Given the description of an element on the screen output the (x, y) to click on. 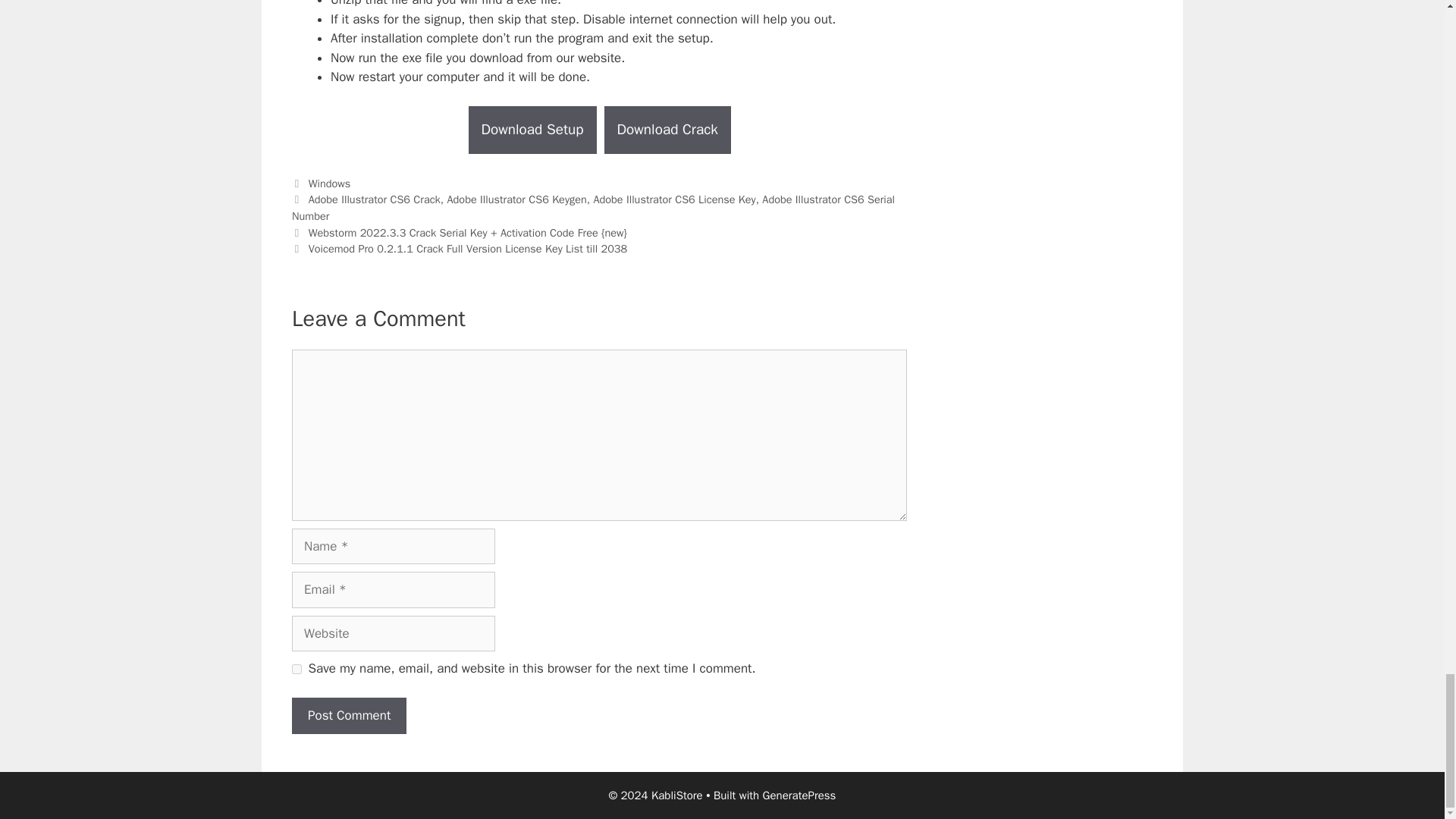
Adobe Illustrator CS6 Serial Number (593, 207)
Adobe Illustrator CS6 Crack (374, 199)
Download SetupDownload Crack (599, 130)
Windows (329, 183)
Adobe Illustrator CS6 License Key (673, 199)
Post Comment (349, 715)
yes (296, 669)
Adobe Illustrator CS6 Keygen (516, 199)
Post Comment (349, 715)
